Given the description of an element on the screen output the (x, y) to click on. 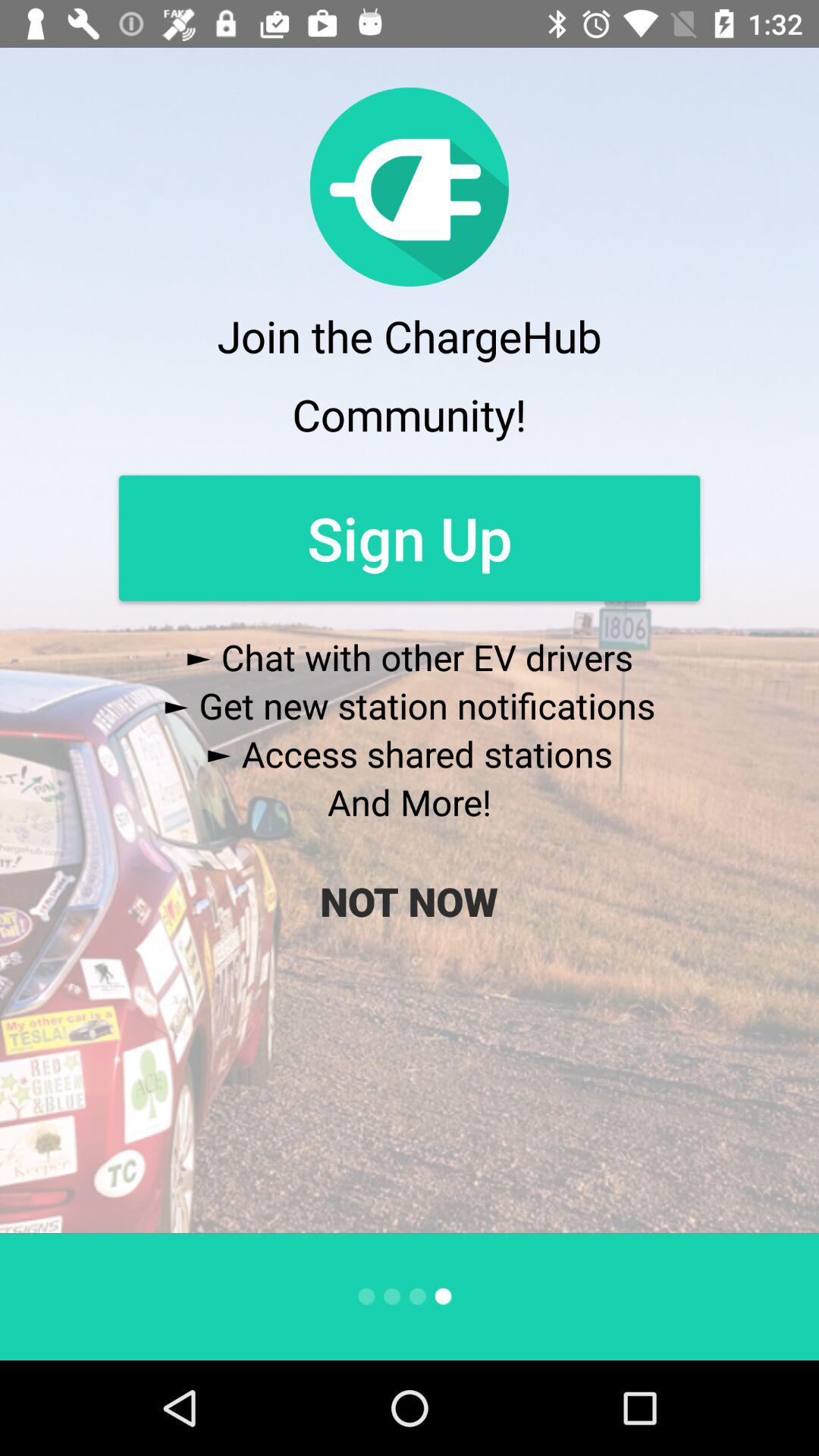
flip until the not now (409, 901)
